Given the description of an element on the screen output the (x, y) to click on. 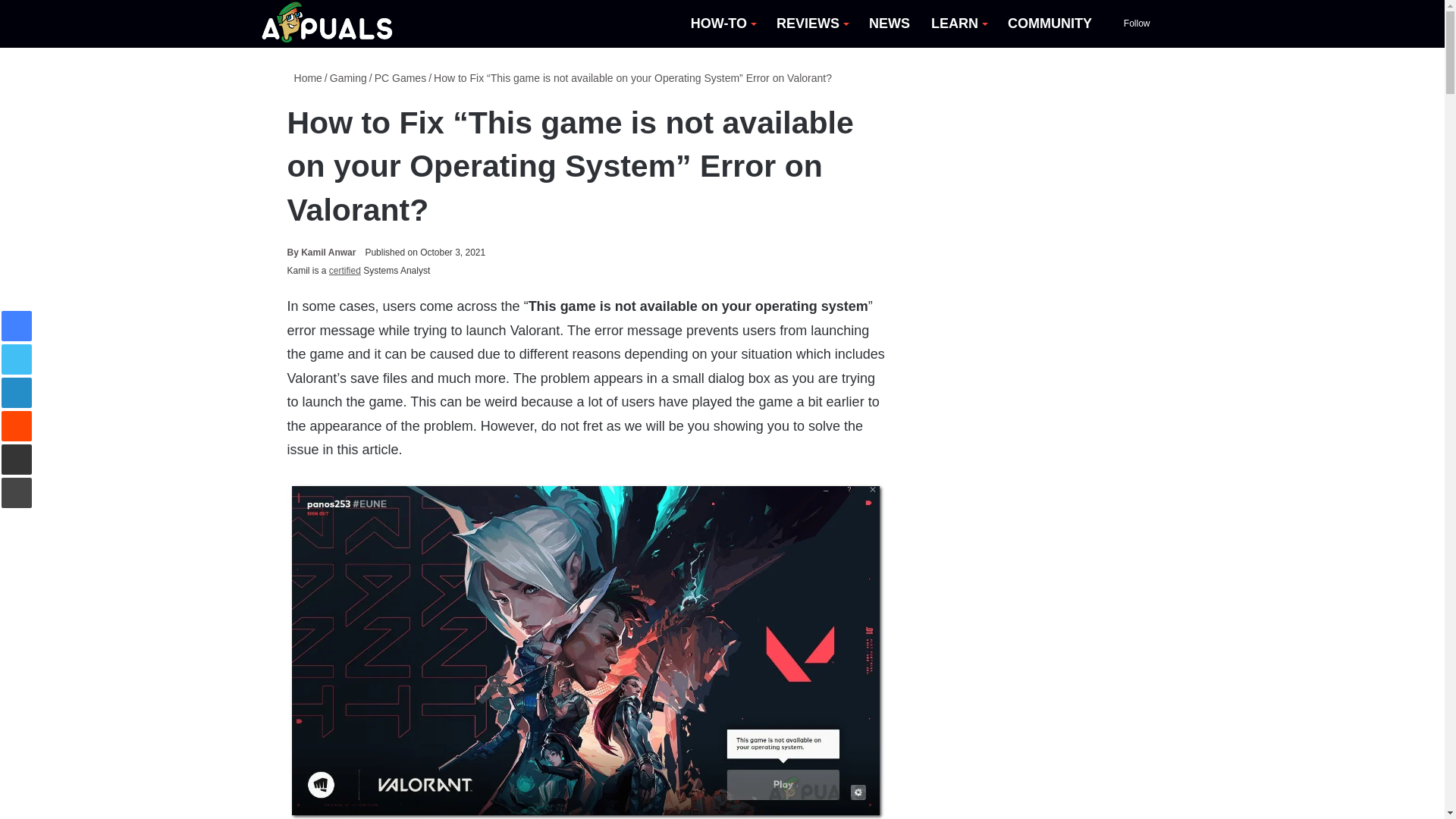
LEARN (958, 23)
LinkedIn (16, 392)
Print (16, 492)
HOW-TO (722, 23)
Reddit (16, 426)
Appuals (327, 23)
Share via Email (16, 459)
Twitter (16, 358)
Kamil Anwar (320, 252)
COMMUNITY (1049, 23)
